Given the description of an element on the screen output the (x, y) to click on. 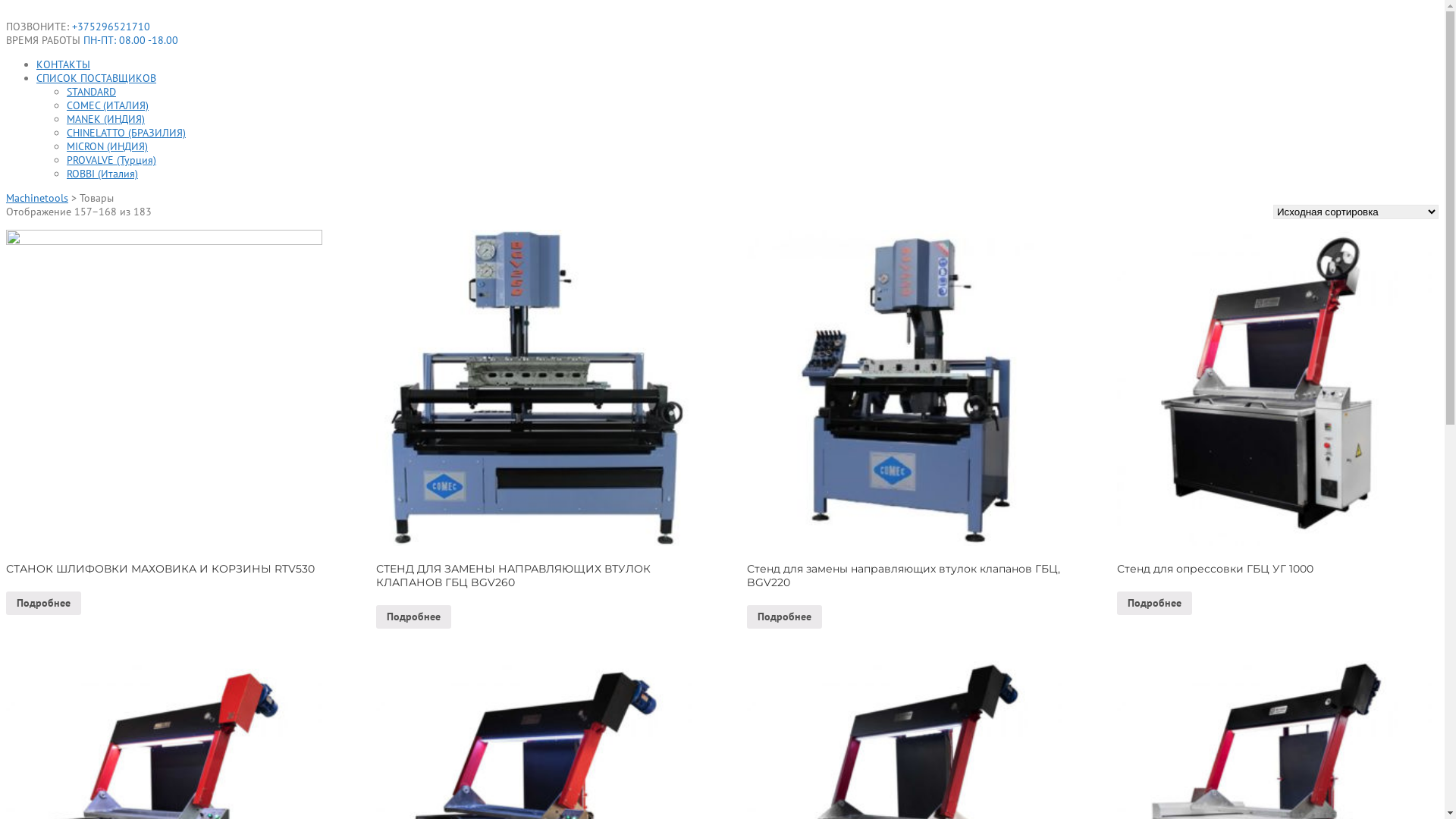
Machinetools Element type: text (37, 197)
STANDARD Element type: text (91, 91)
Skip to content Element type: text (6, 6)
